Given the description of an element on the screen output the (x, y) to click on. 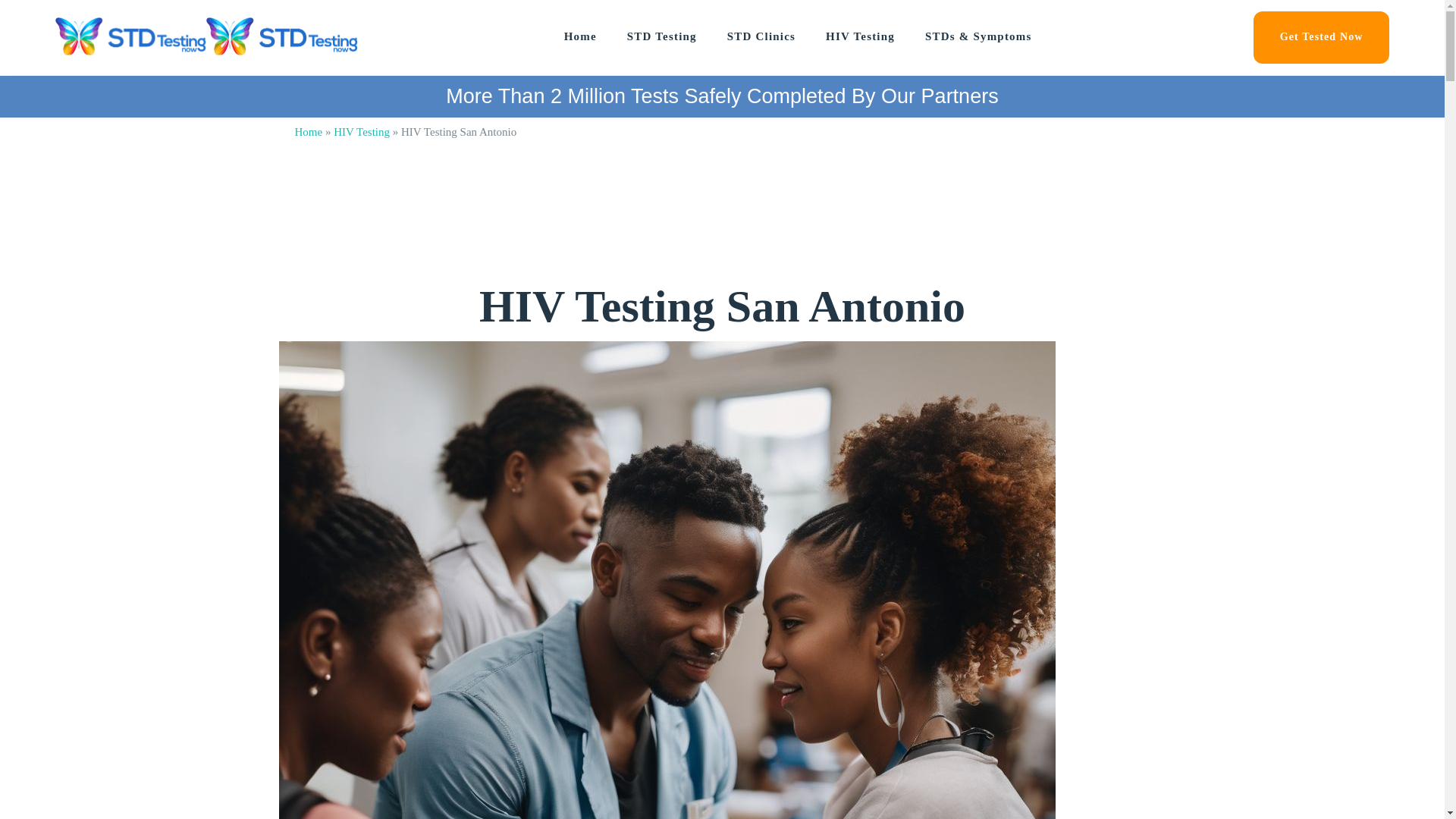
Home (307, 132)
HIV Testing (860, 36)
Home (580, 36)
STD Testing (662, 36)
STD Clinics (760, 36)
Get Tested Now (1321, 37)
HIV Testing (361, 132)
